Given the description of an element on the screen output the (x, y) to click on. 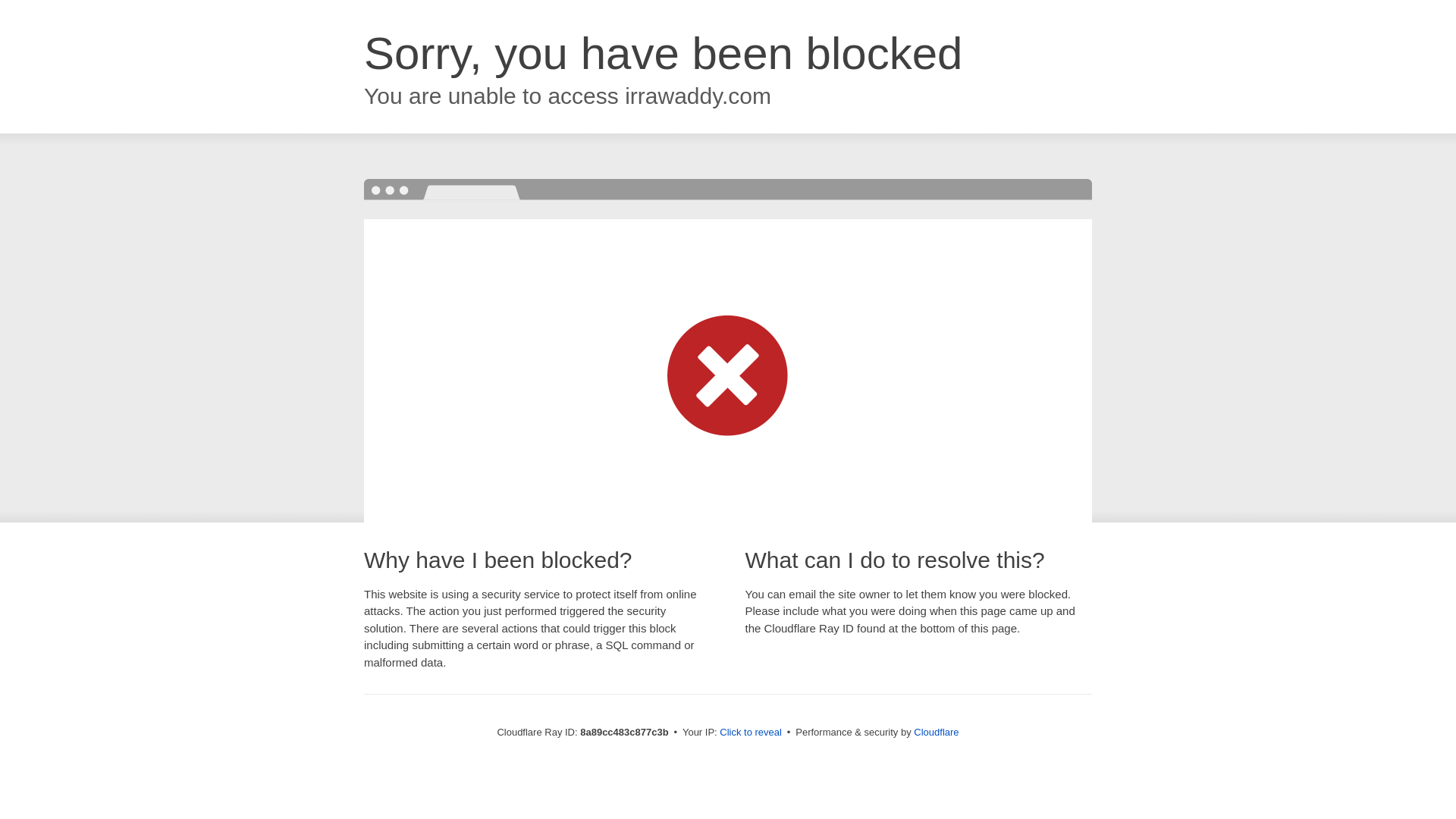
Cloudflare (936, 731)
Click to reveal (750, 732)
